Given the description of an element on the screen output the (x, y) to click on. 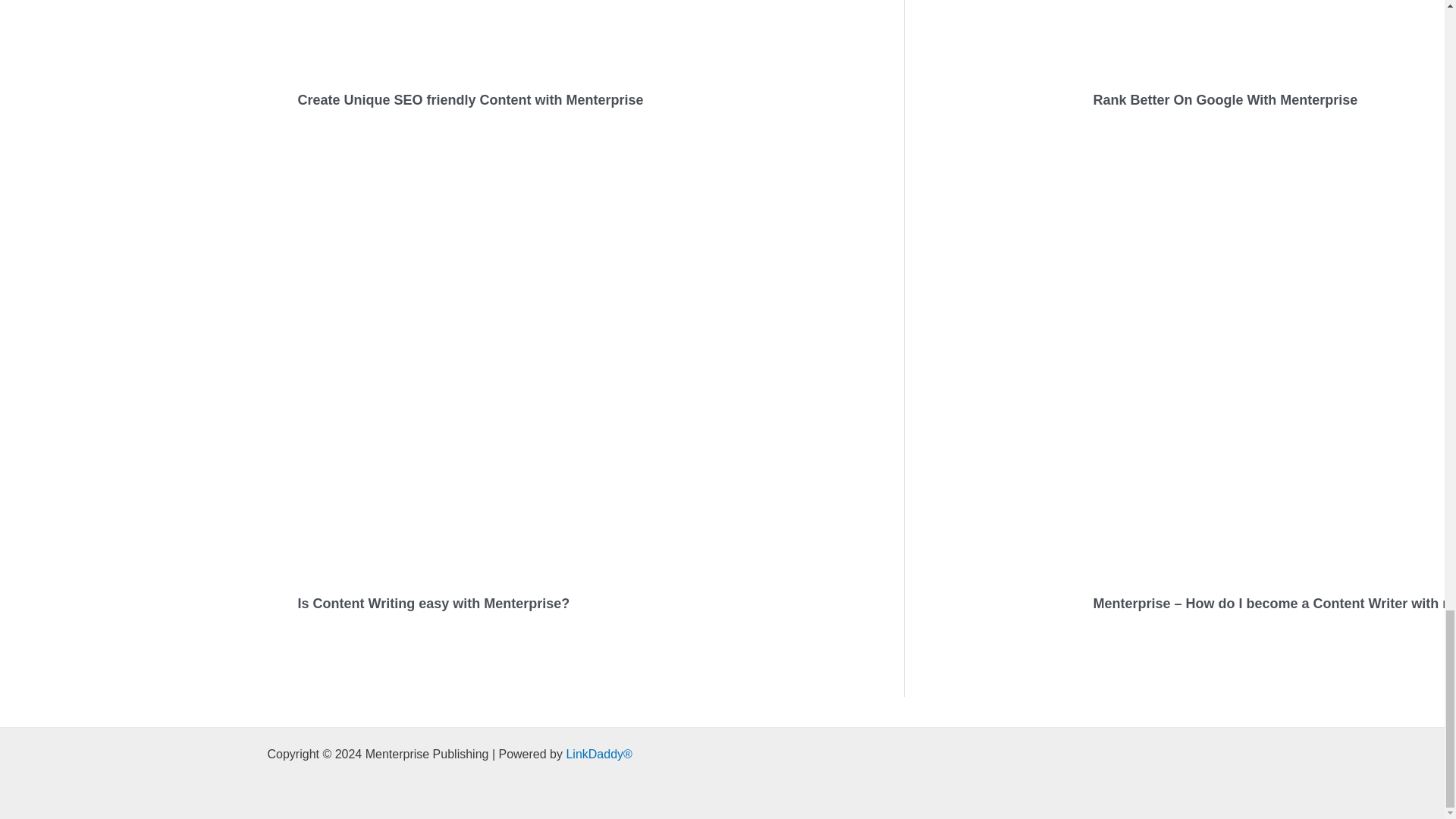
Create Unique SEO friendly Content with Menterprise (470, 99)
Create Unique SEO friendly Content with Menterprise 1 (685, 36)
Is Content Writing easy with Menterprise? (433, 603)
Rank Better On Google With Menterprise (1225, 99)
Rank Better On Google With Menterprise 2 (1274, 36)
